Given the description of an element on the screen output the (x, y) to click on. 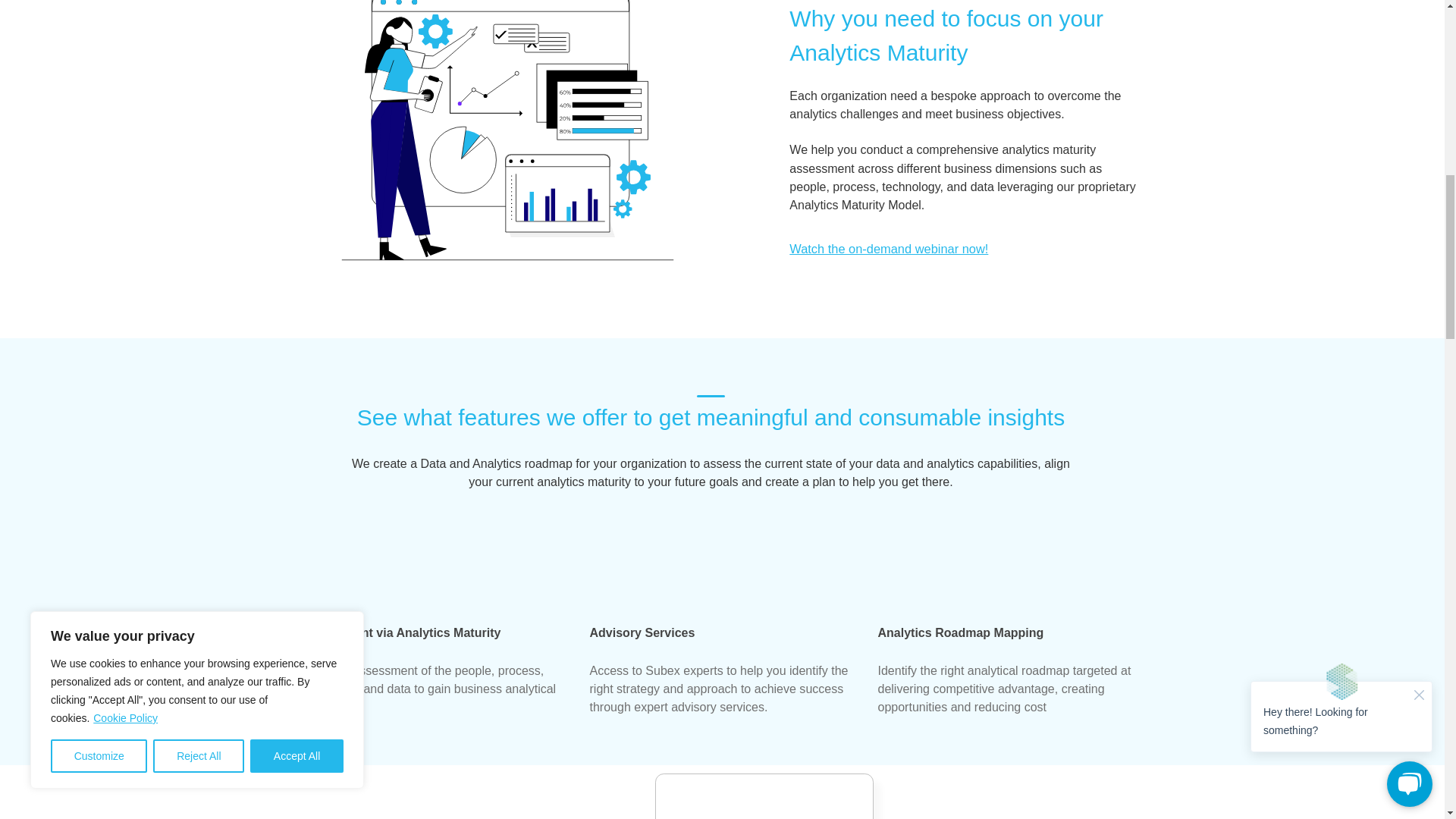
Watch the on-demand webinar now! (888, 248)
